Given the description of an element on the screen output the (x, y) to click on. 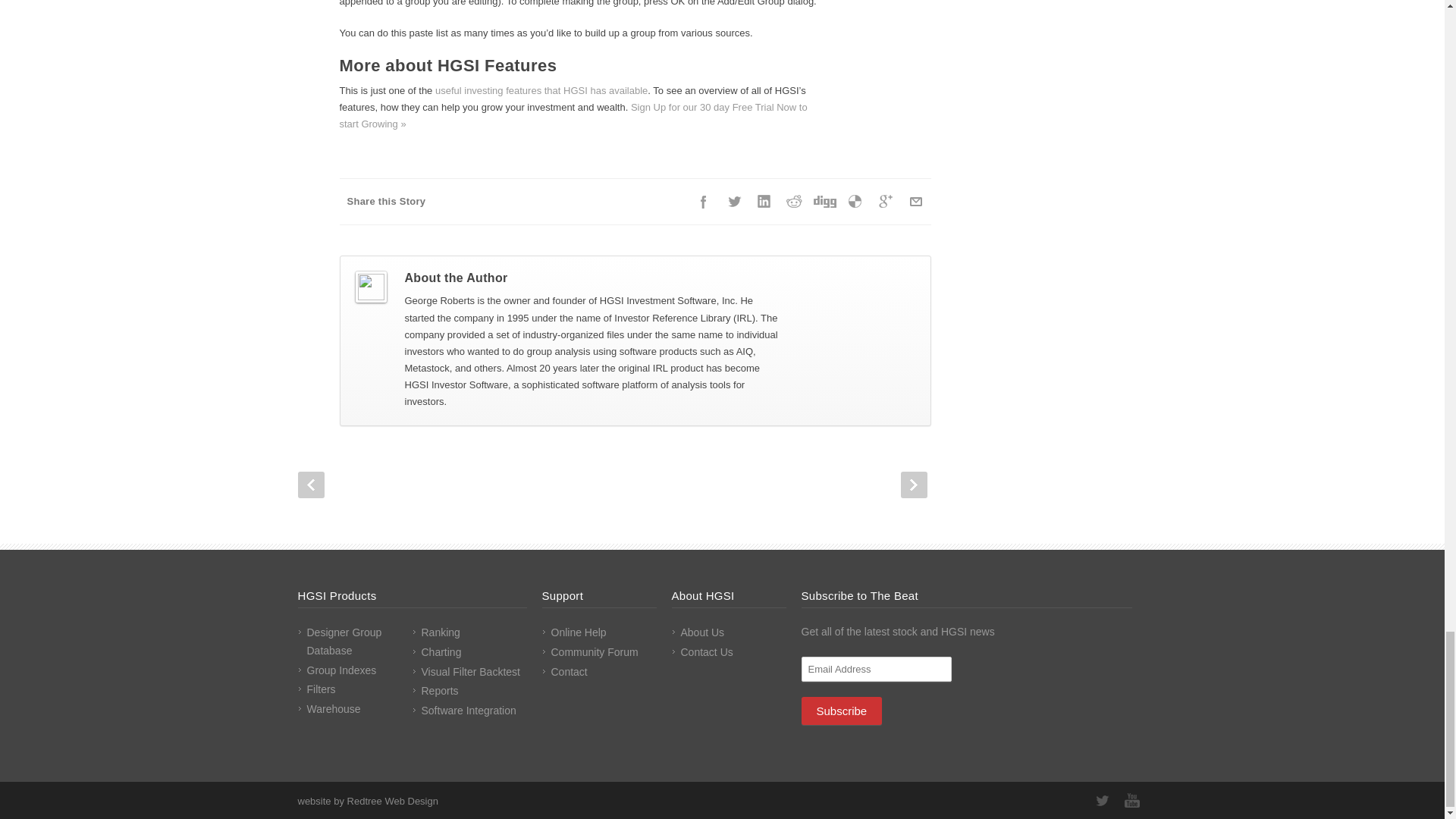
Twitter (734, 201)
LinkedIn (763, 201)
Delicious (855, 201)
useful investing features that HGSI has available (541, 90)
Facebook (703, 201)
Subscribe (841, 710)
Reddit (793, 201)
Digg (824, 201)
Pittsburgh Web Design by Redtree (367, 800)
